Given the description of an element on the screen output the (x, y) to click on. 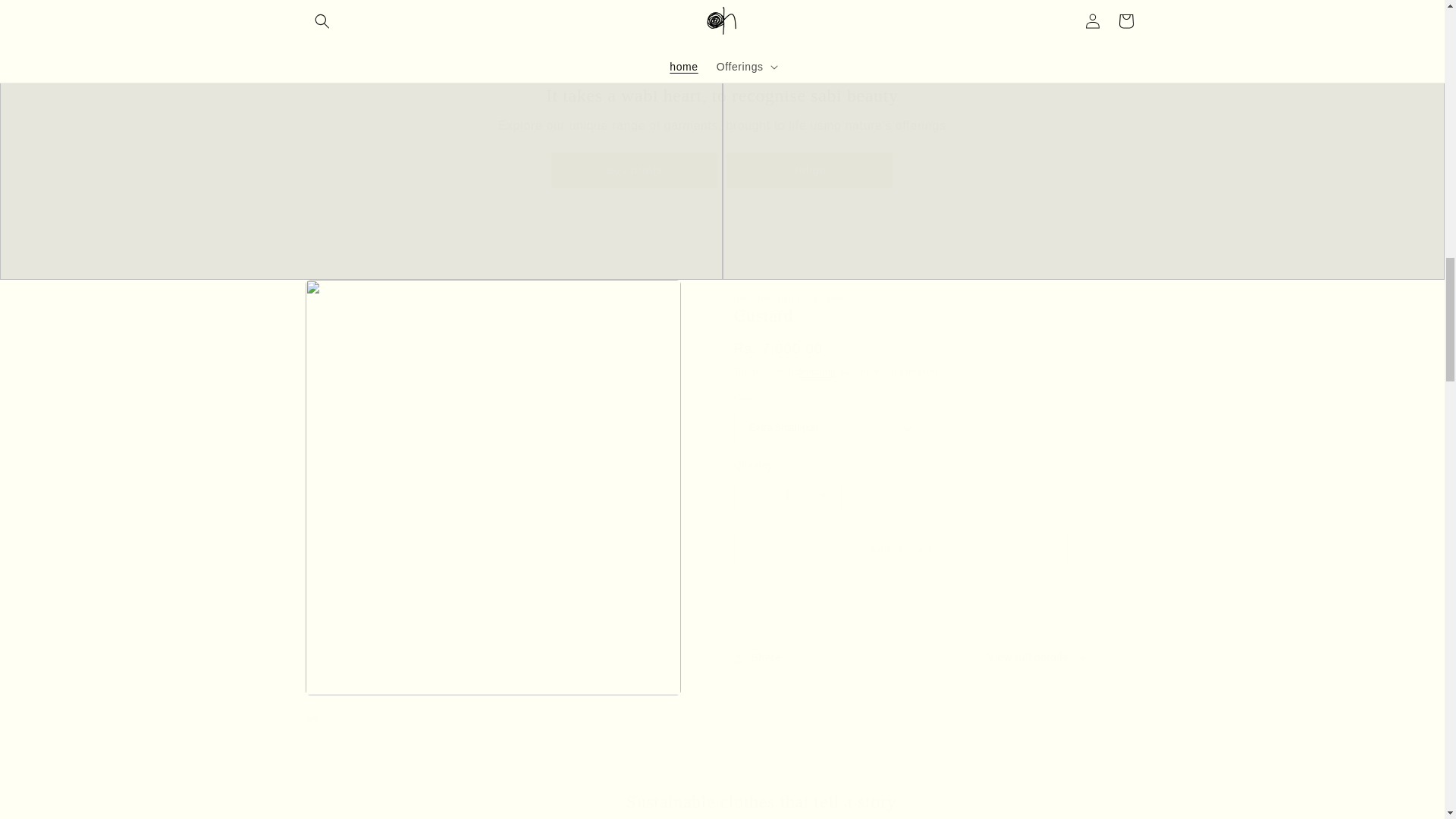
1 (787, 495)
